Given the description of an element on the screen output the (x, y) to click on. 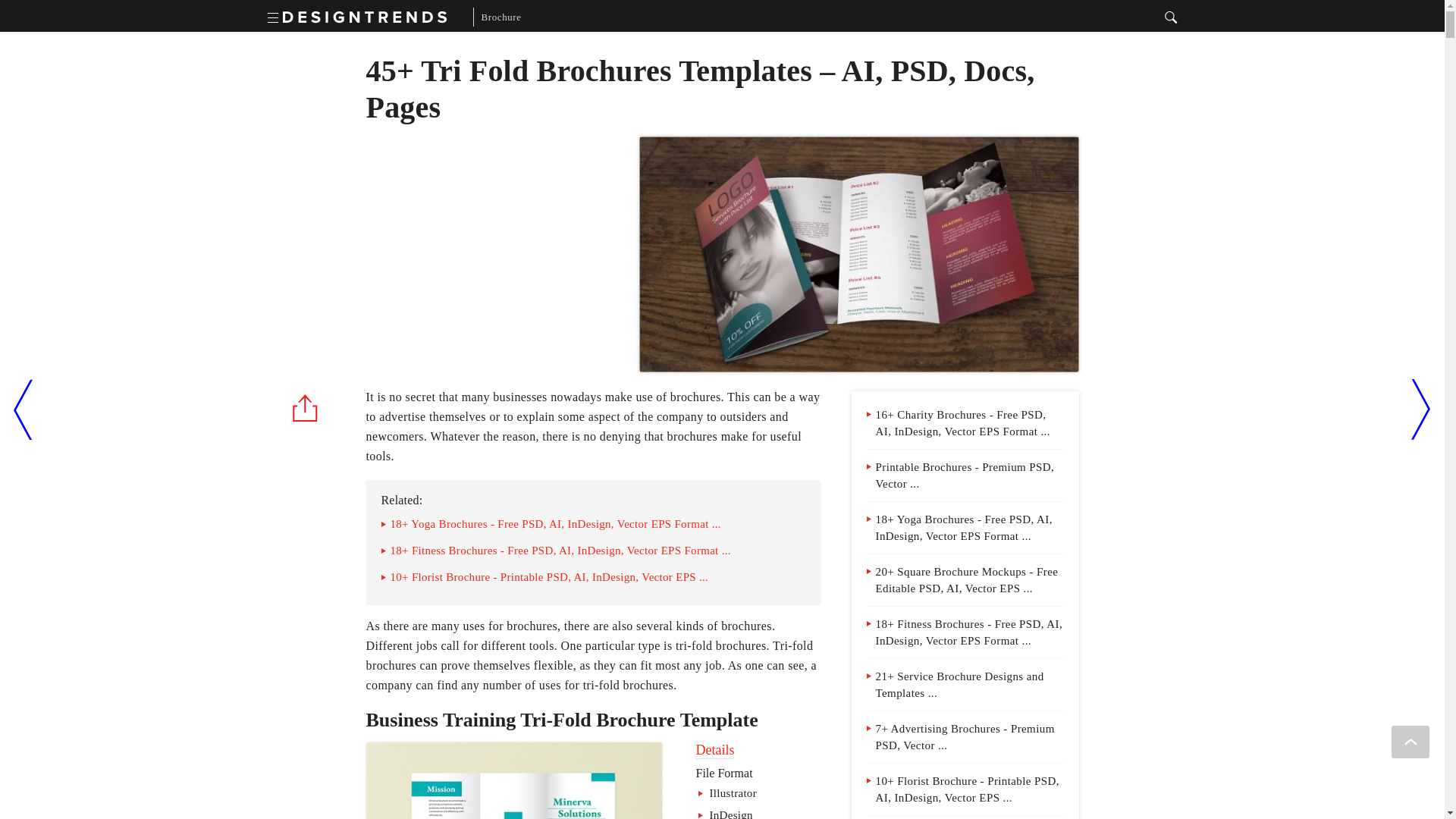
Brochure (497, 16)
Printable Brochures - Premium PSD, Vector ... (964, 475)
